Given the description of an element on the screen output the (x, y) to click on. 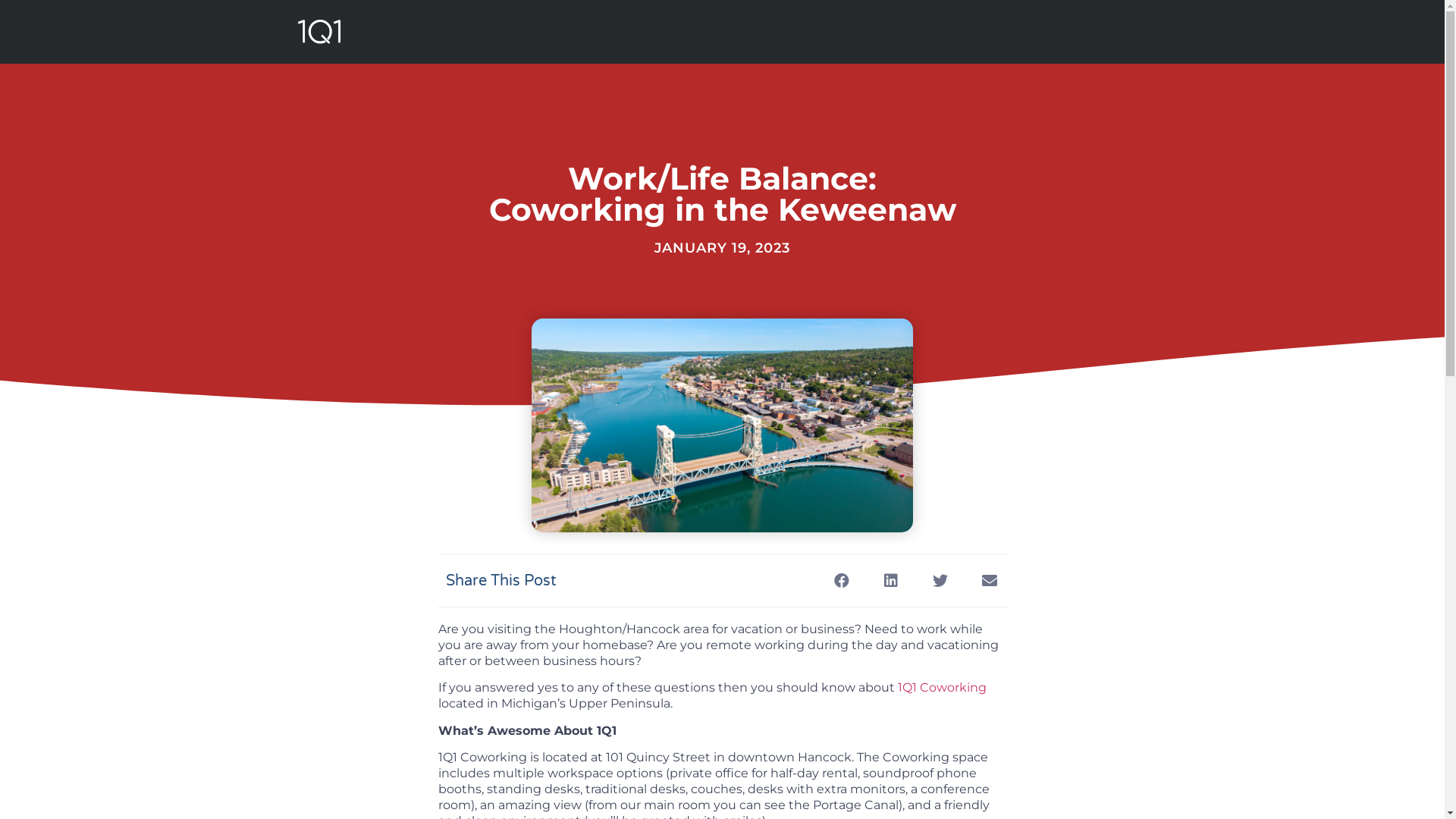
1Q1 Coworking Element type: text (940, 687)
JANUARY 19, 2023 Element type: text (722, 248)
